Given the description of an element on the screen output the (x, y) to click on. 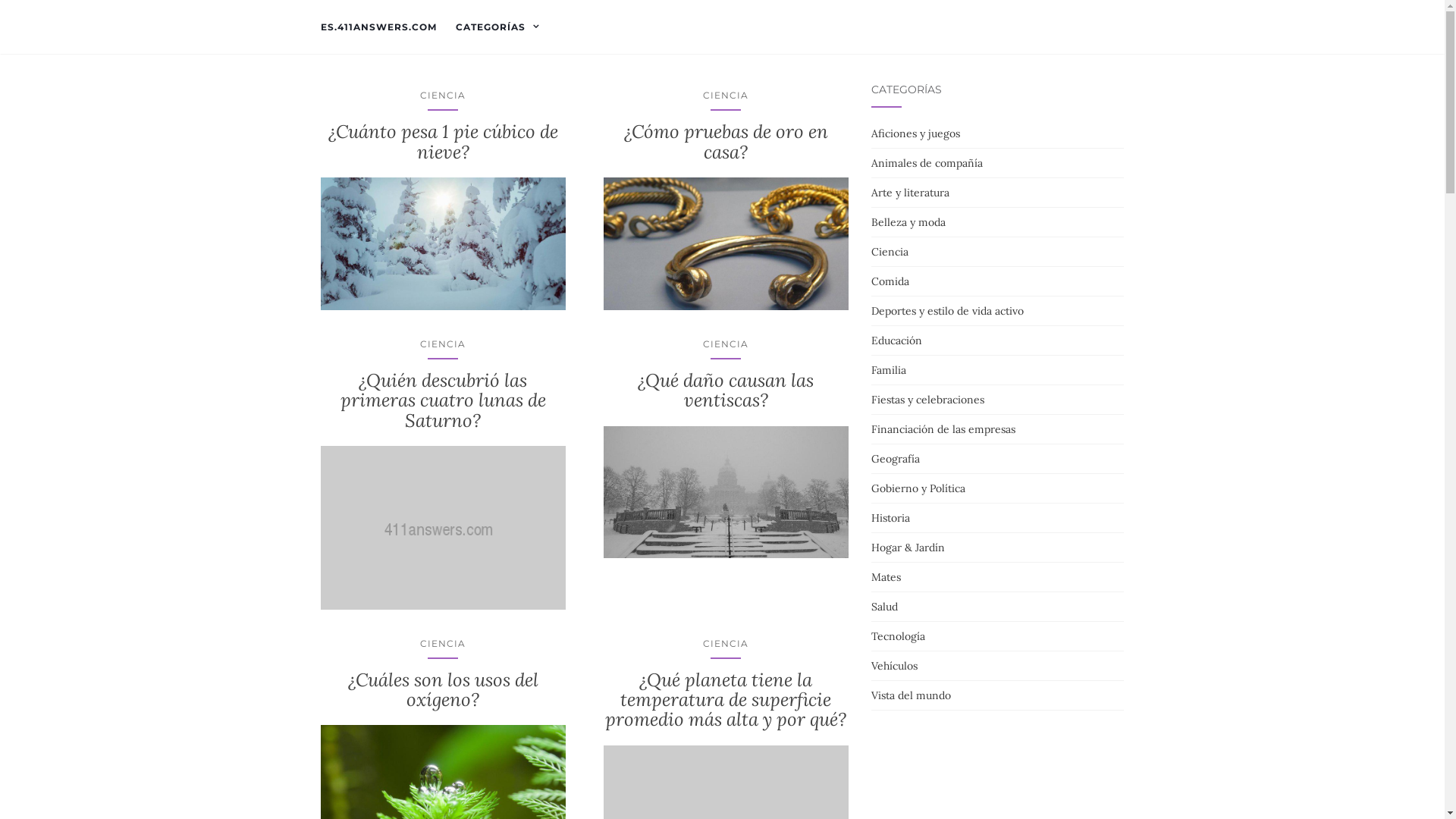
Comida Element type: text (890, 281)
CIENCIA Element type: text (725, 643)
CIENCIA Element type: text (442, 94)
CIENCIA Element type: text (725, 94)
CIENCIA Element type: text (442, 643)
Vista del mundo Element type: text (910, 695)
Deportes y estilo de vida activo Element type: text (947, 310)
Arte y literatura Element type: text (910, 192)
Aficiones y juegos Element type: text (915, 133)
Familia Element type: text (888, 369)
Belleza y moda Element type: text (908, 222)
Salud Element type: text (884, 606)
ES.411ANSWERS.COM Element type: text (378, 26)
Mates Element type: text (885, 576)
CIENCIA Element type: text (725, 343)
Ciencia Element type: text (889, 251)
CIENCIA Element type: text (442, 343)
Fiestas y celebraciones Element type: text (927, 399)
Historia Element type: text (890, 517)
